Given the description of an element on the screen output the (x, y) to click on. 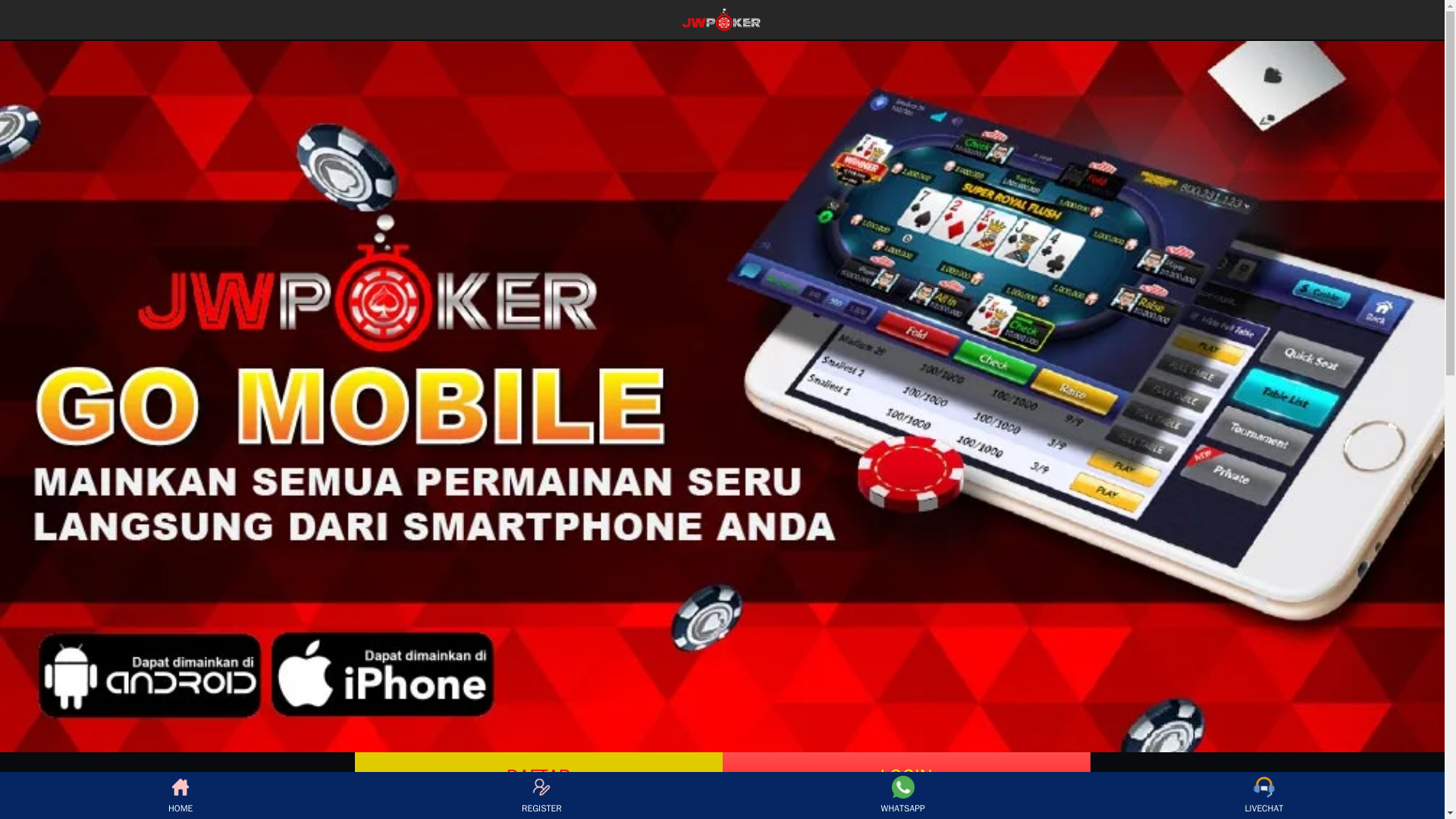
DAFTAR (538, 772)
WHATSAPP (903, 794)
LOGIN (905, 772)
LIVECHAT (1263, 794)
REGISTER (541, 794)
HOME (180, 794)
